Given the description of an element on the screen output the (x, y) to click on. 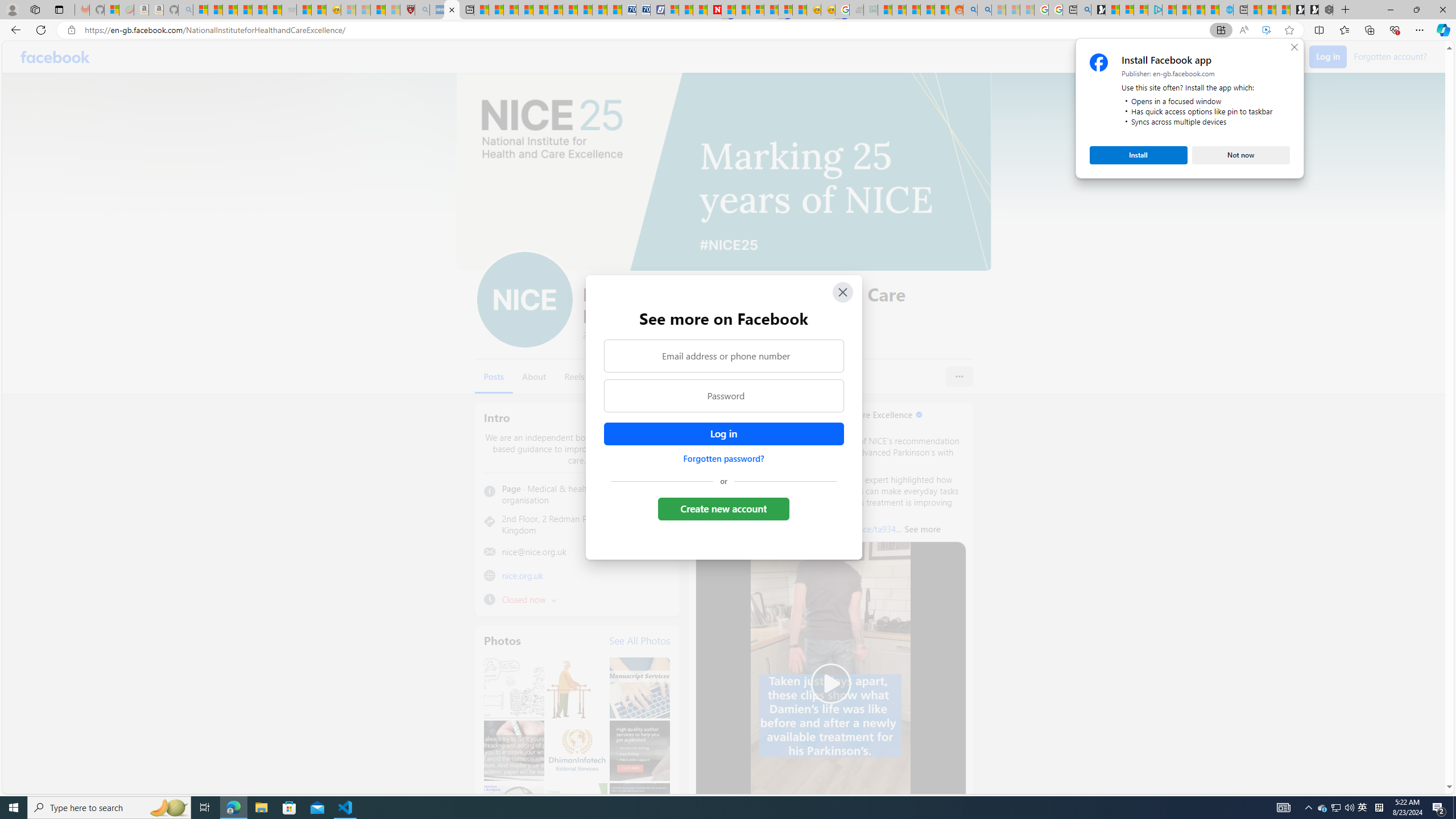
12 Popular Science Lies that Must be Corrected - Sleeping (392, 9)
Combat Siege - Sleeping (288, 9)
Q2790: 100% (1349, 807)
Robert H. Shmerling, MD - Harvard Health (406, 9)
Running applications (700, 807)
